Given the description of an element on the screen output the (x, y) to click on. 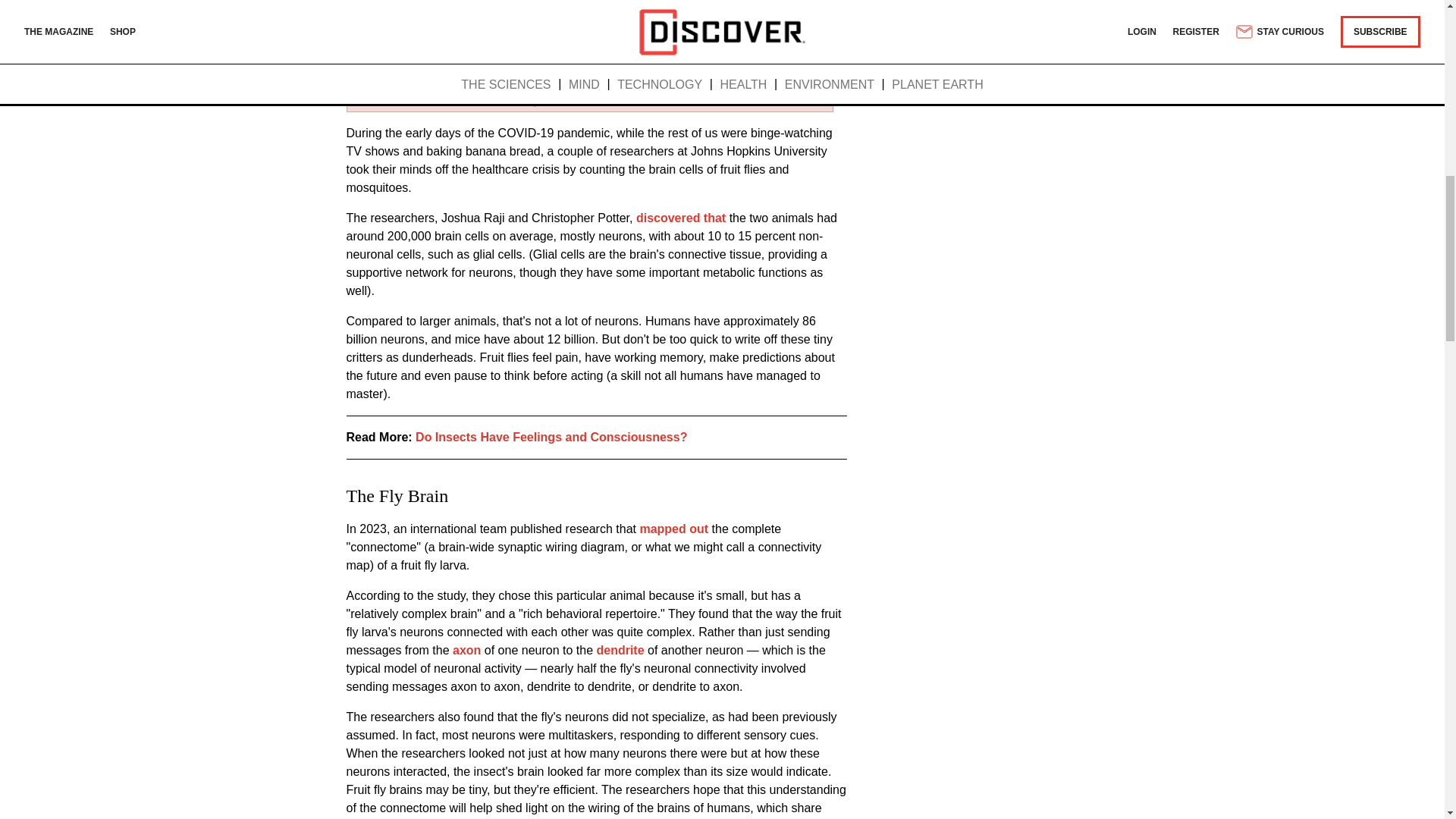
Do Insects Have Feelings and Consciousness? (550, 436)
 axon (465, 649)
 mapped out (671, 528)
discovered that (680, 217)
Audio Article (590, 80)
SIGN UP (811, 3)
 dendrite (618, 649)
